Given the description of an element on the screen output the (x, y) to click on. 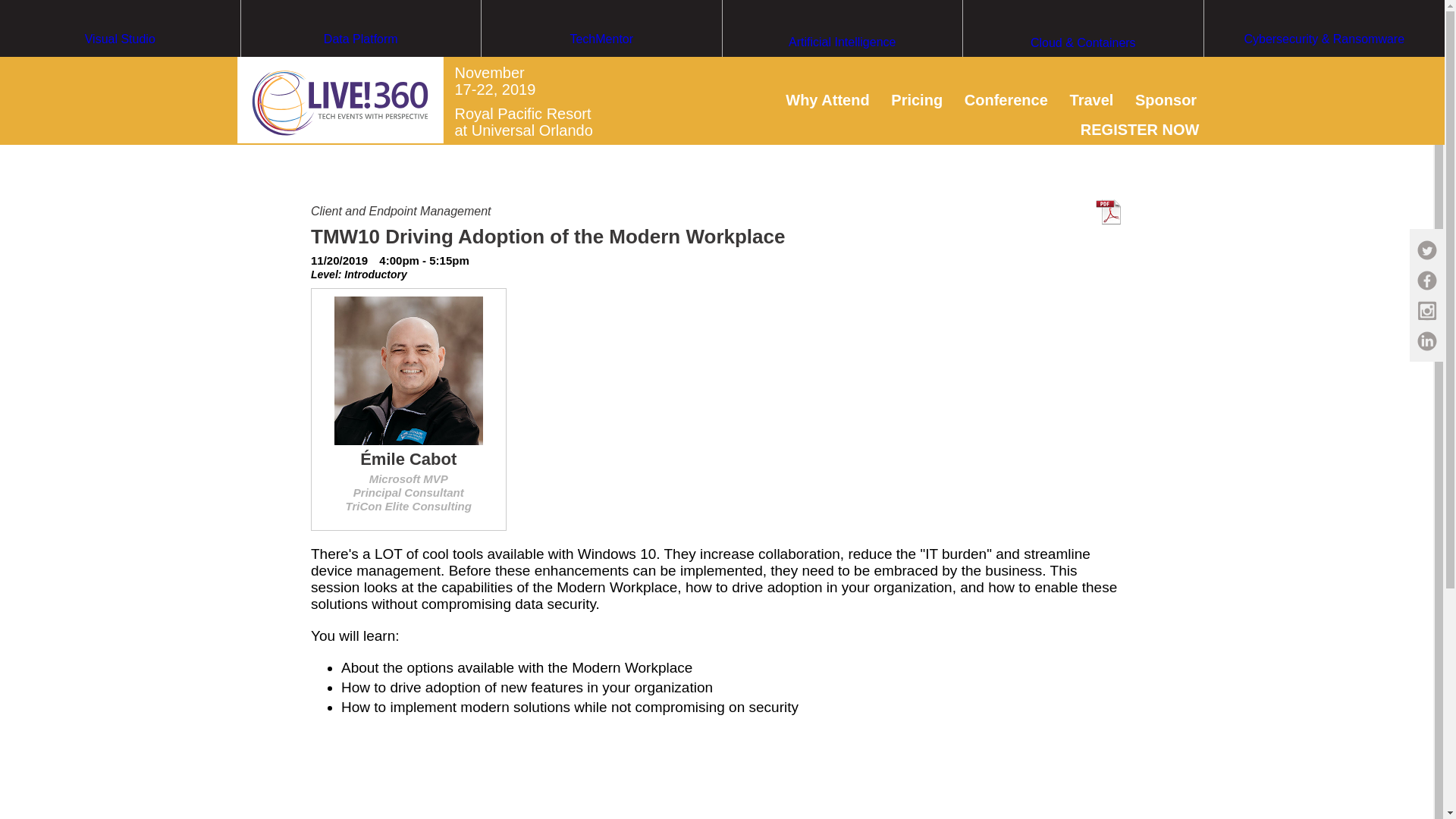
Artificial Intelligence (842, 70)
Visual Studio (120, 67)
Why Attend (827, 99)
Pricing (916, 99)
Data Platform (361, 67)
Conference (1005, 99)
TechMentor (601, 67)
